Given the description of an element on the screen output the (x, y) to click on. 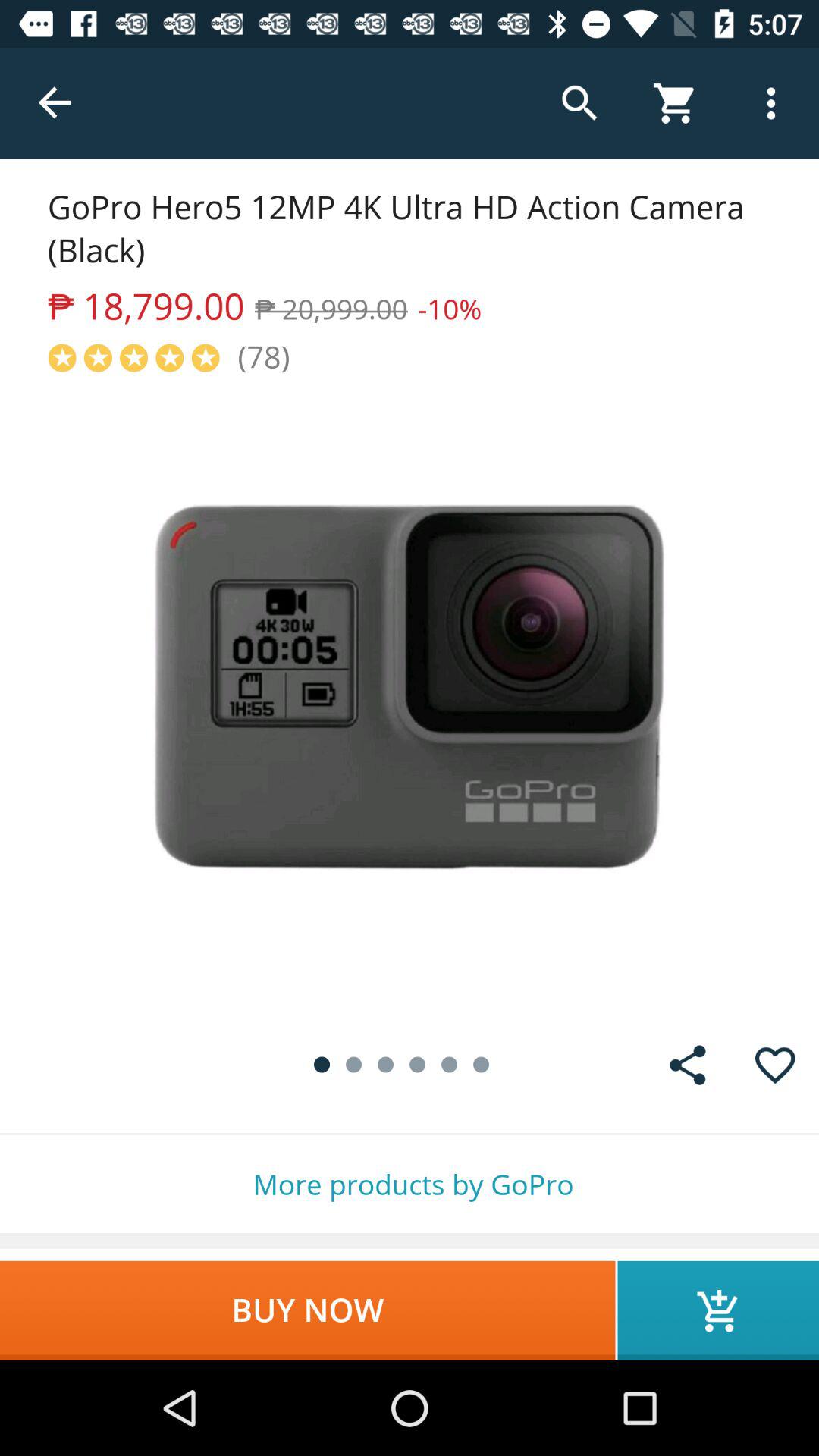
zoom on picture (409, 698)
